Given the description of an element on the screen output the (x, y) to click on. 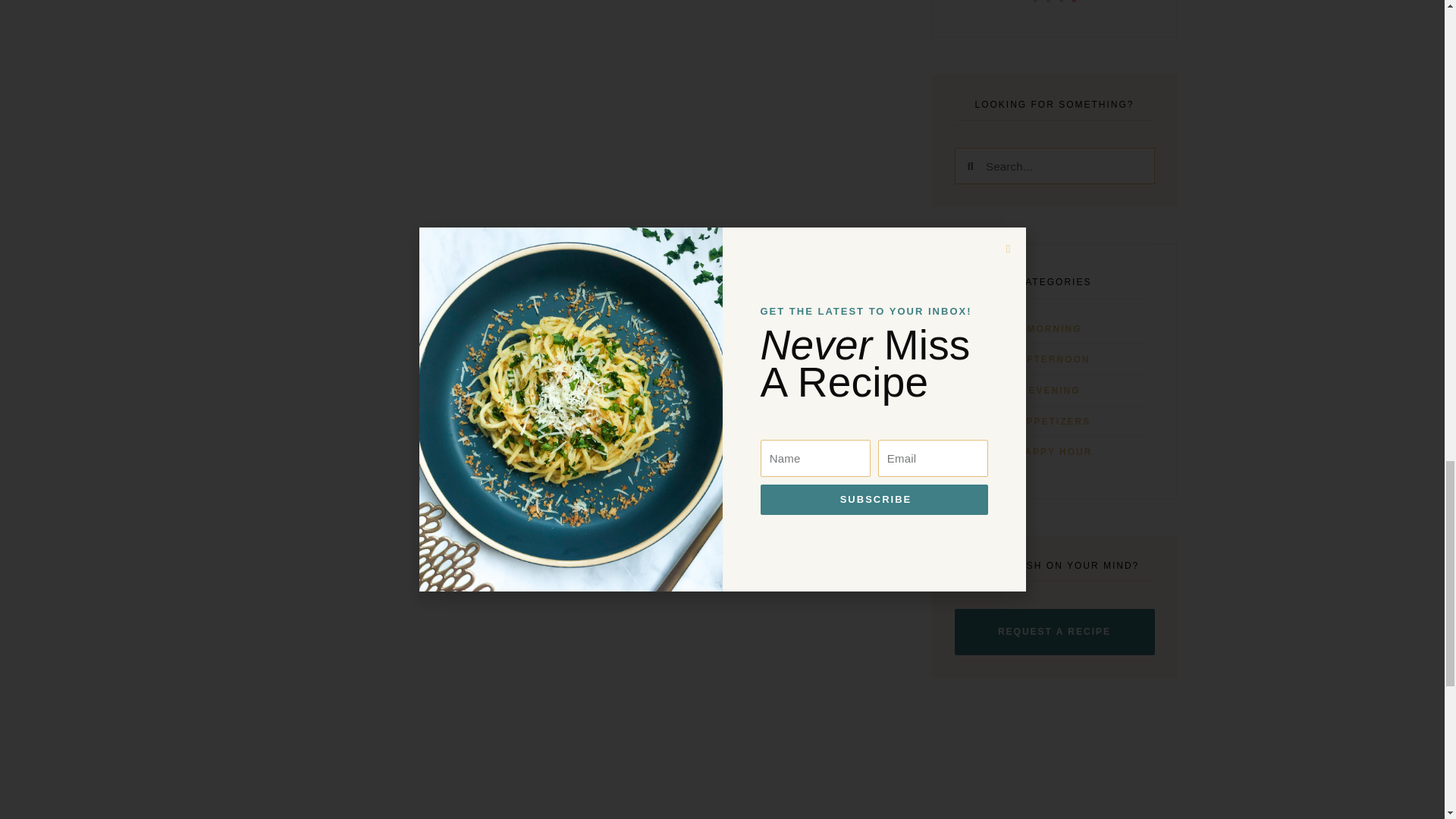
REQUEST A RECIPE (1053, 632)
HAVE A DISH ON YOUR MIND? (1053, 575)
LOOKING FOR SOMETHING? (1053, 114)
CATEGORIES (1054, 390)
Search (1054, 286)
